Given the description of an element on the screen output the (x, y) to click on. 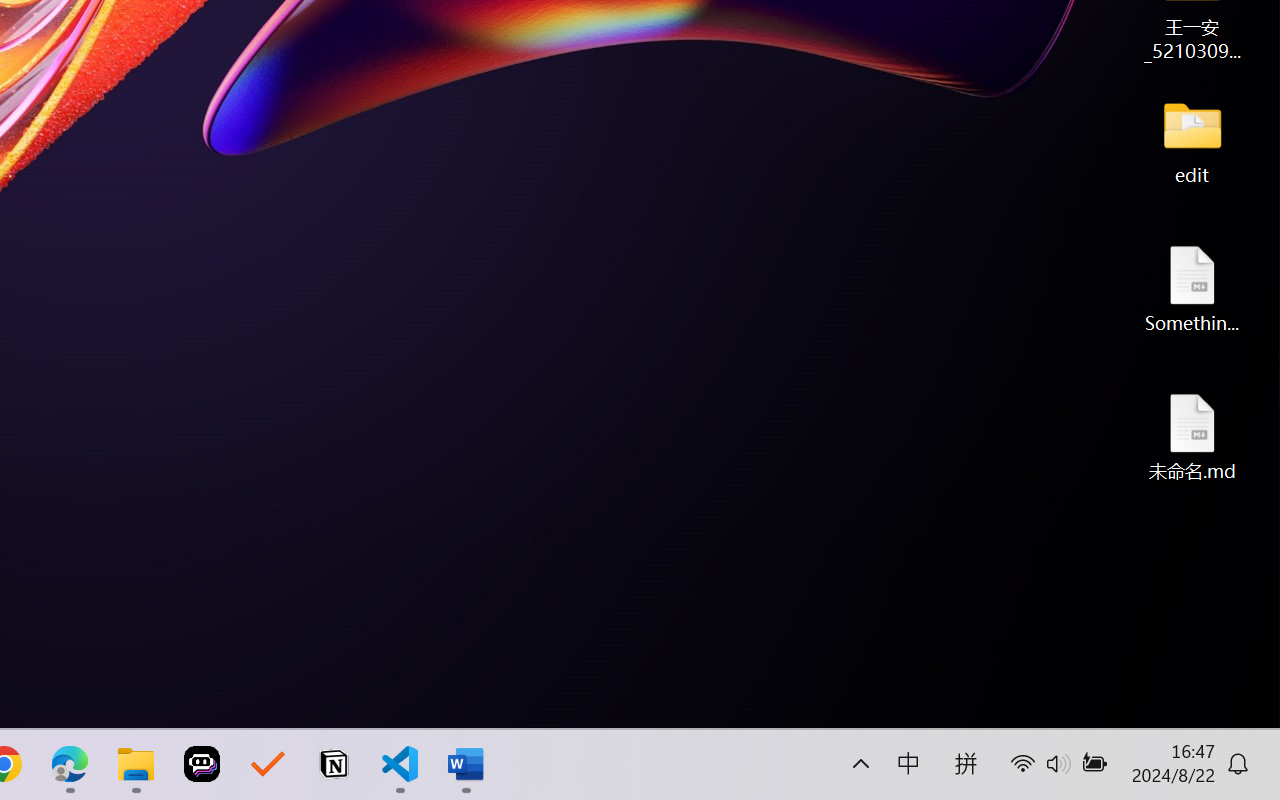
edit (1192, 140)
Something.md (1192, 288)
